Given the description of an element on the screen output the (x, y) to click on. 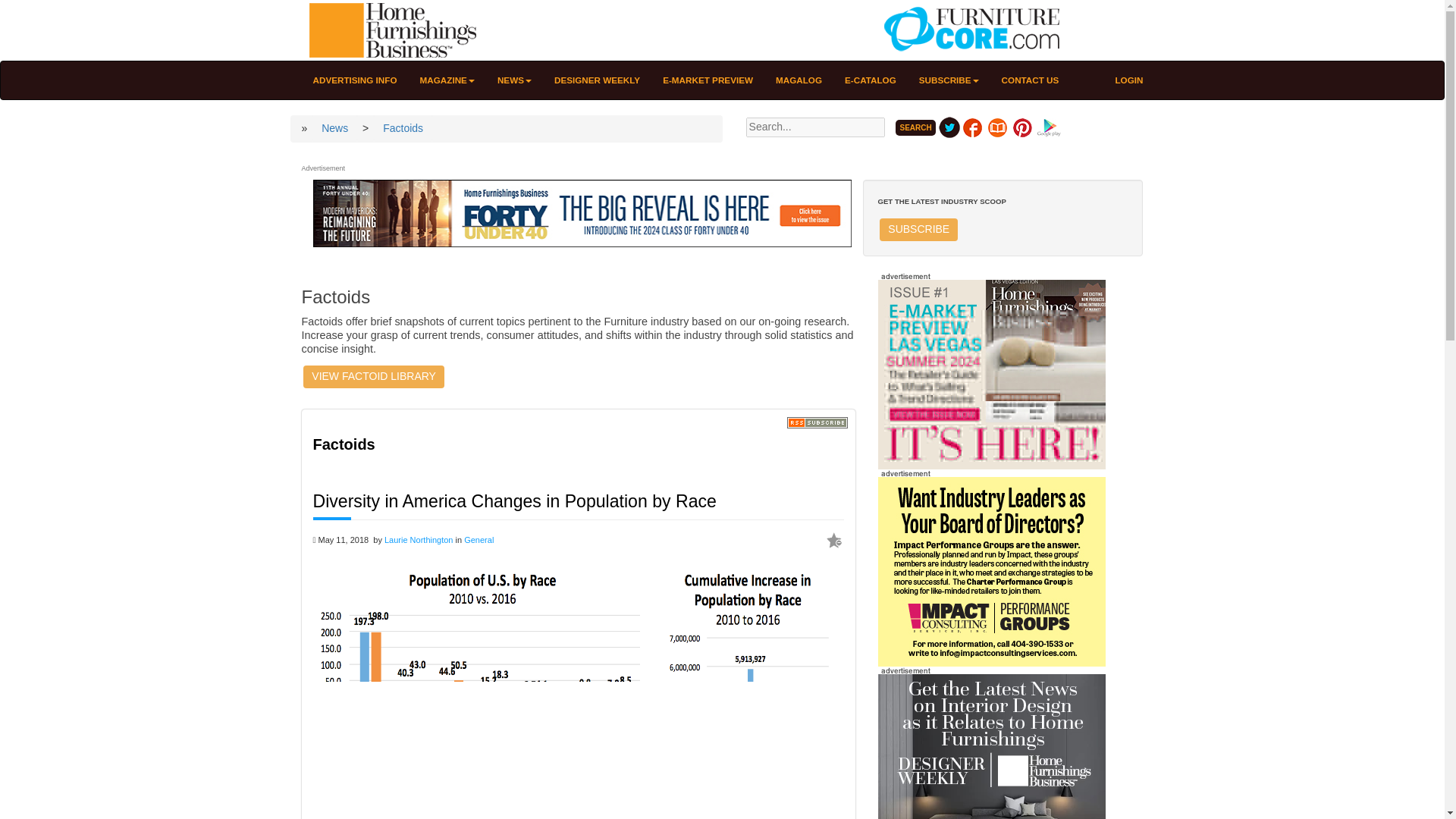
SUBSCRIBE (948, 80)
MAGALOG (798, 80)
Subscribe to Home Furnishings (918, 229)
You must be logged in to bookmark (834, 540)
Factoids (402, 128)
ADVERTISING INFO (355, 80)
E-CATALOG (869, 80)
NEWS (514, 80)
HFB Designer Weekly (991, 767)
MAGAZINE (447, 80)
